Given the description of an element on the screen output the (x, y) to click on. 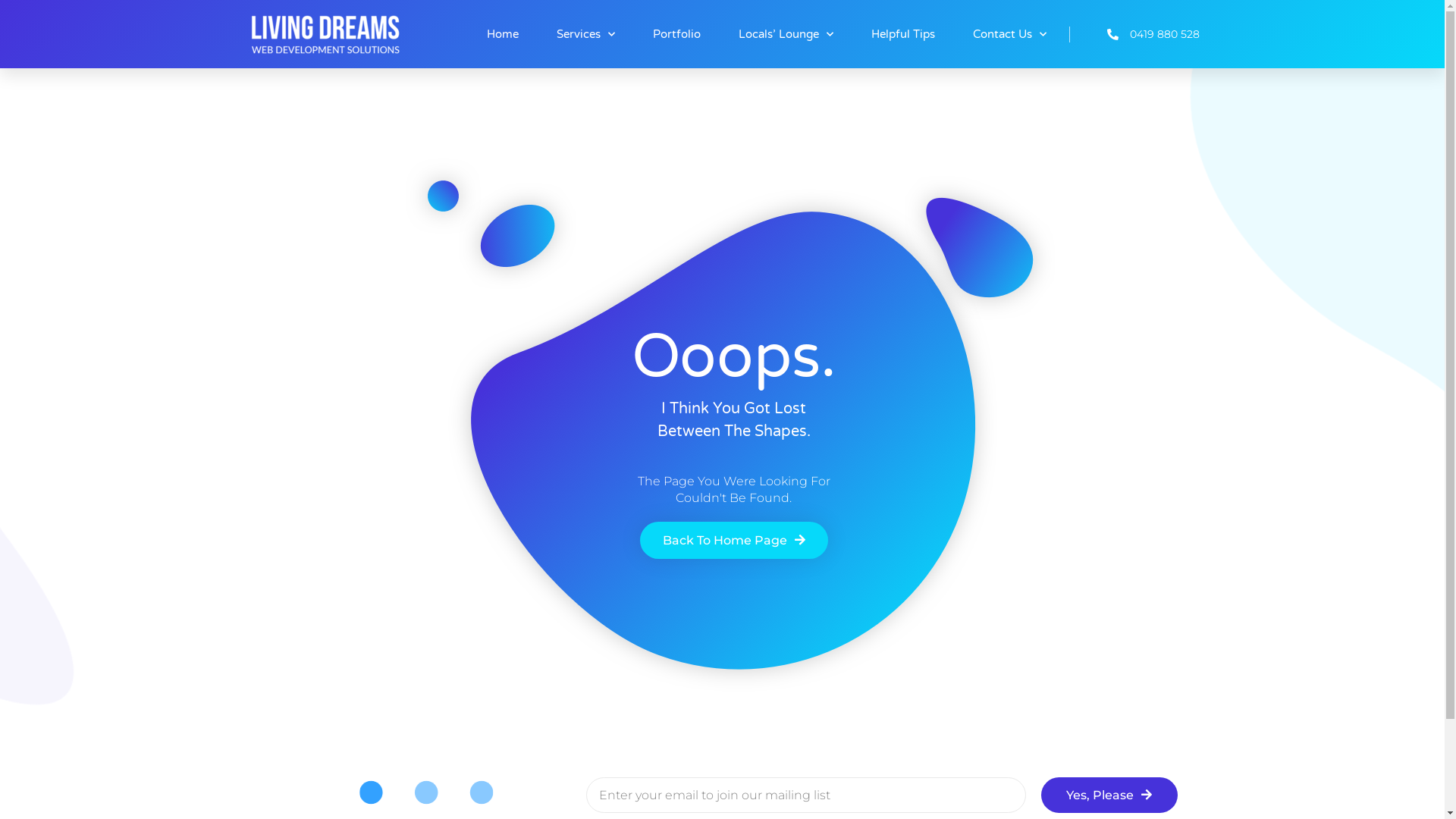
Contact Us Element type: text (1009, 33)
Home Element type: text (502, 33)
Back To Home Page Element type: text (734, 539)
Yes, Please Element type: text (1108, 794)
Services Element type: text (585, 33)
Portfolio Element type: text (676, 33)
Helpful Tips Element type: text (903, 33)
0419 880 528 Element type: text (1134, 33)
